Given the description of an element on the screen output the (x, y) to click on. 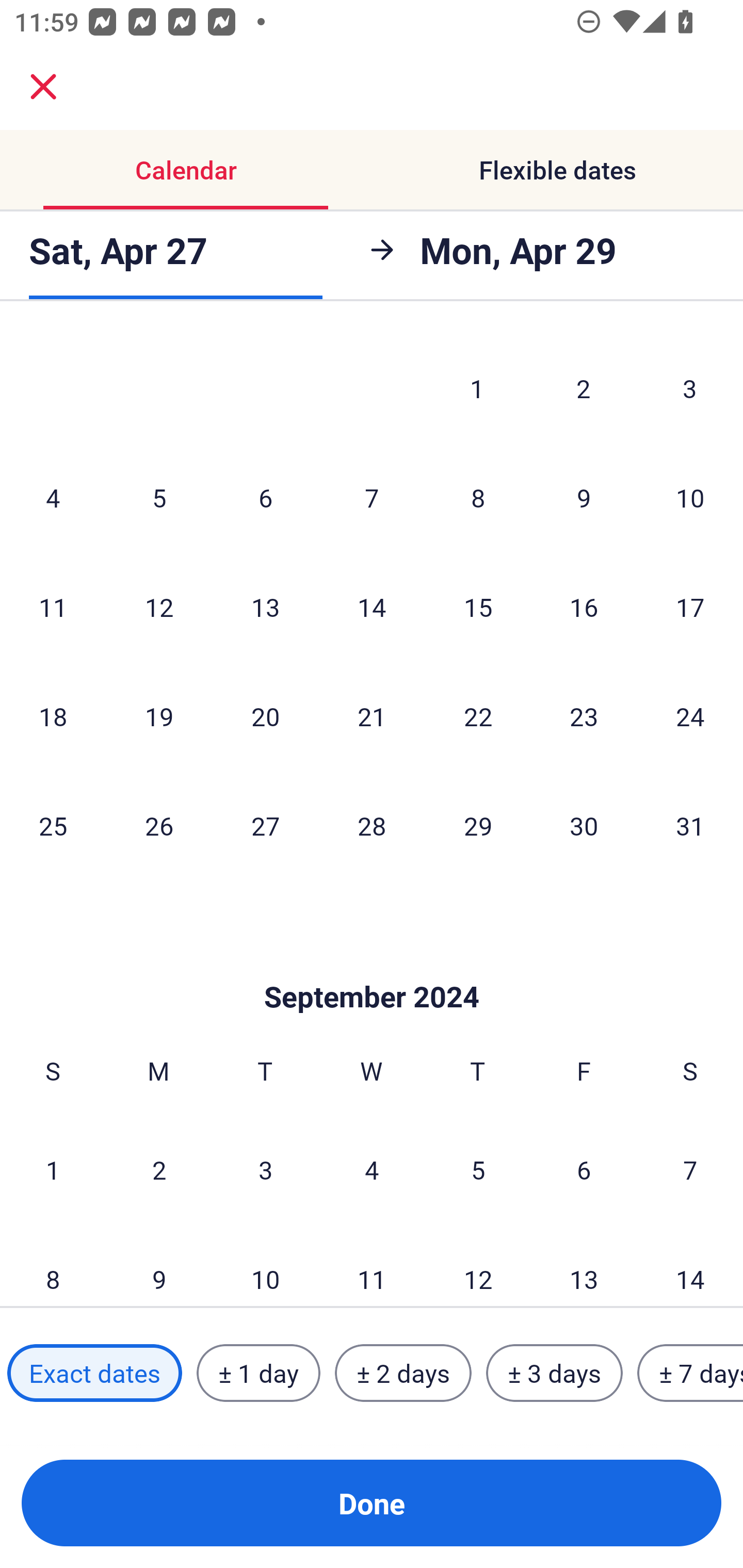
close. (43, 86)
Flexible dates (557, 170)
1 Thursday, August 1, 2024 (477, 387)
2 Friday, August 2, 2024 (583, 387)
3 Saturday, August 3, 2024 (689, 387)
4 Sunday, August 4, 2024 (53, 497)
5 Monday, August 5, 2024 (159, 497)
6 Tuesday, August 6, 2024 (265, 497)
7 Wednesday, August 7, 2024 (371, 497)
8 Thursday, August 8, 2024 (477, 497)
9 Friday, August 9, 2024 (584, 497)
10 Saturday, August 10, 2024 (690, 497)
11 Sunday, August 11, 2024 (53, 606)
12 Monday, August 12, 2024 (159, 606)
13 Tuesday, August 13, 2024 (265, 606)
14 Wednesday, August 14, 2024 (371, 606)
15 Thursday, August 15, 2024 (477, 606)
16 Friday, August 16, 2024 (584, 606)
17 Saturday, August 17, 2024 (690, 606)
18 Sunday, August 18, 2024 (53, 715)
19 Monday, August 19, 2024 (159, 715)
20 Tuesday, August 20, 2024 (265, 715)
21 Wednesday, August 21, 2024 (371, 715)
22 Thursday, August 22, 2024 (477, 715)
23 Friday, August 23, 2024 (584, 715)
24 Saturday, August 24, 2024 (690, 715)
25 Sunday, August 25, 2024 (53, 825)
26 Monday, August 26, 2024 (159, 825)
27 Tuesday, August 27, 2024 (265, 825)
28 Wednesday, August 28, 2024 (371, 825)
29 Thursday, August 29, 2024 (477, 825)
30 Friday, August 30, 2024 (584, 825)
31 Saturday, August 31, 2024 (690, 825)
Skip to Done (371, 965)
1 Sunday, September 1, 2024 (53, 1169)
2 Monday, September 2, 2024 (159, 1169)
3 Tuesday, September 3, 2024 (265, 1169)
4 Wednesday, September 4, 2024 (371, 1169)
5 Thursday, September 5, 2024 (477, 1169)
6 Friday, September 6, 2024 (584, 1169)
7 Saturday, September 7, 2024 (690, 1169)
8 Sunday, September 8, 2024 (53, 1266)
9 Monday, September 9, 2024 (159, 1266)
10 Tuesday, September 10, 2024 (265, 1266)
11 Wednesday, September 11, 2024 (371, 1266)
12 Thursday, September 12, 2024 (477, 1266)
13 Friday, September 13, 2024 (584, 1266)
14 Saturday, September 14, 2024 (690, 1266)
Exact dates (94, 1372)
± 1 day (258, 1372)
